Given the description of an element on the screen output the (x, y) to click on. 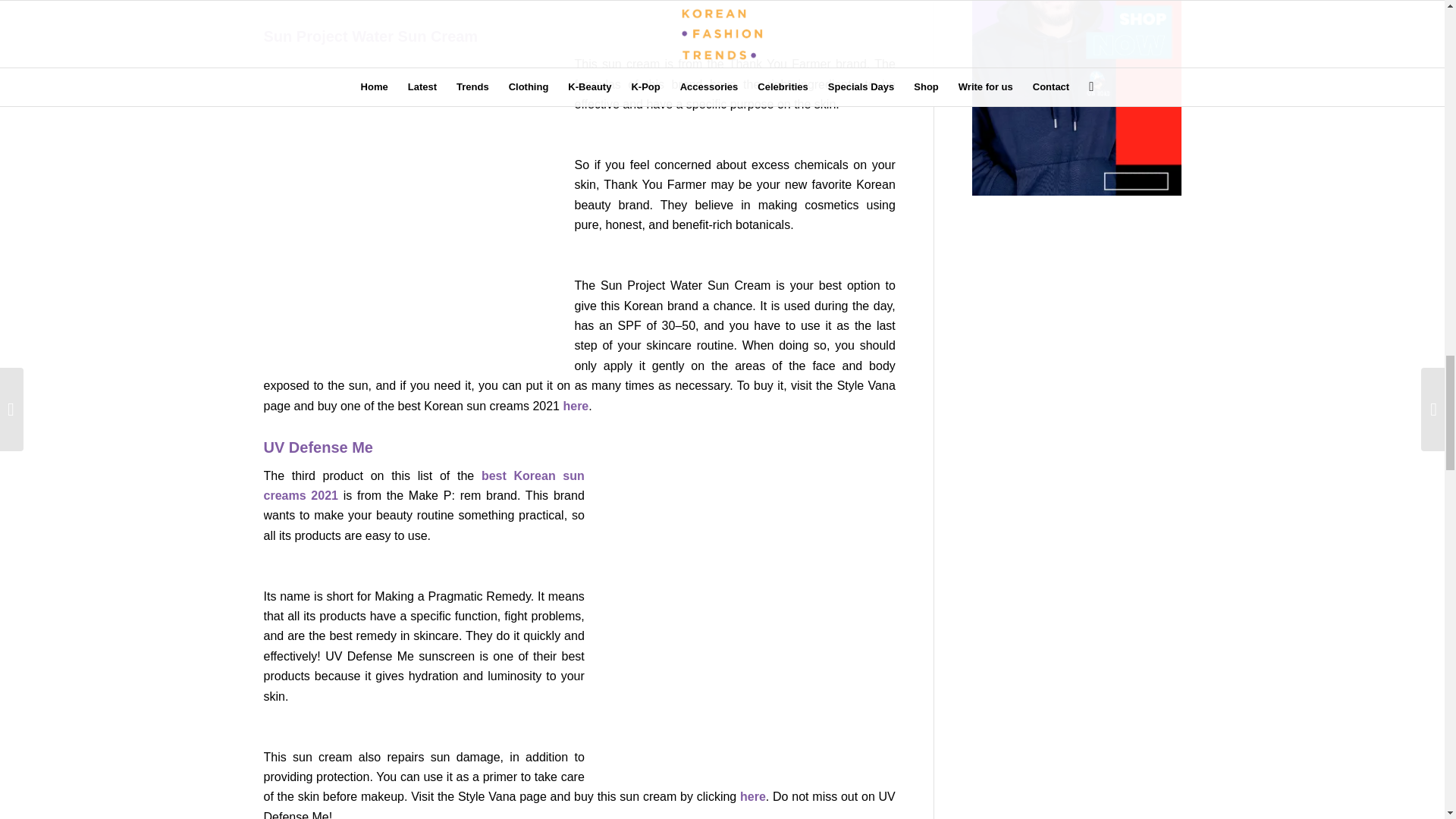
THANK YOU FARMER - Sun Project Water Sun Cream - 50ml (573, 405)
make p:rem - UV Defense Me. Daily Sun Fluid - 150ml (752, 796)
